Given the description of an element on the screen output the (x, y) to click on. 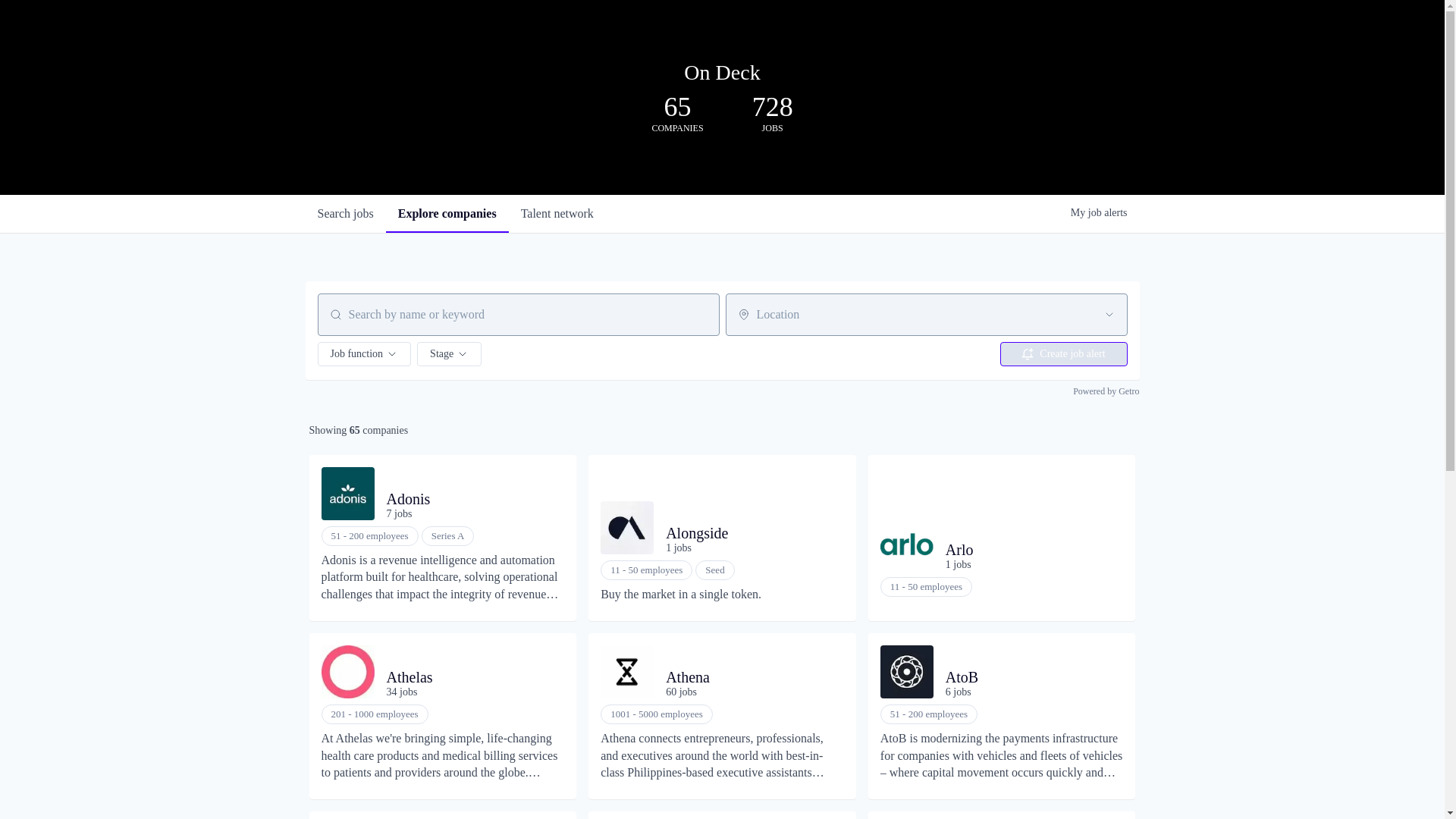
Athelas (470, 677)
AtoB (1028, 677)
Arlo (446, 213)
On Deck (556, 213)
Create job alert (1028, 549)
Adonis (721, 72)
Athena (1062, 354)
Alongside (470, 498)
Powered by Getro (344, 213)
